Given the description of an element on the screen output the (x, y) to click on. 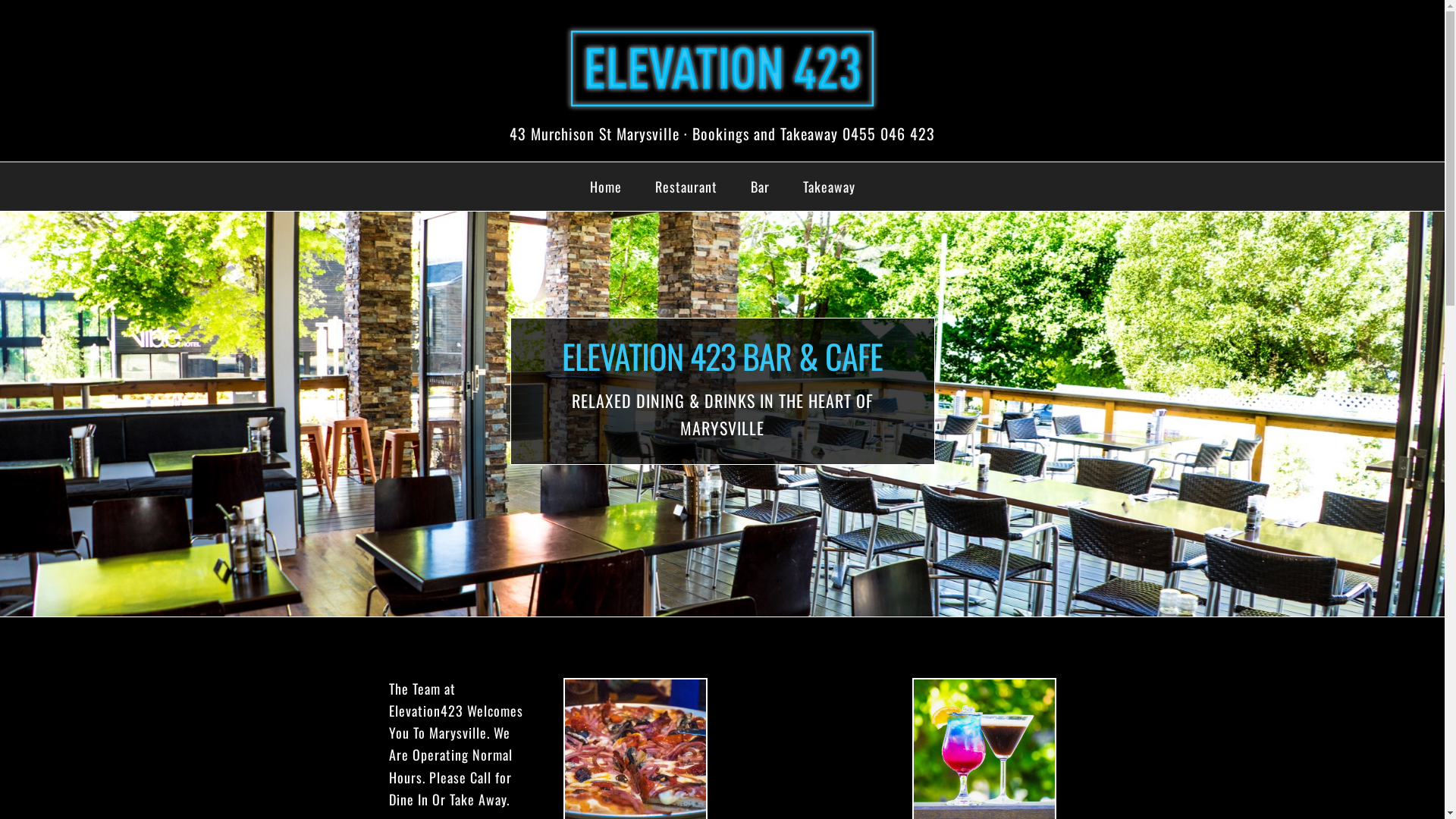
ELEVATION 423 BAR & CAFE Element type: text (721, 67)
Home Element type: text (605, 186)
Takeaway Element type: text (828, 186)
Bar Element type: text (759, 186)
Skip to primary navigation Element type: text (0, 0)
Restaurant Element type: text (686, 186)
